Given the description of an element on the screen output the (x, y) to click on. 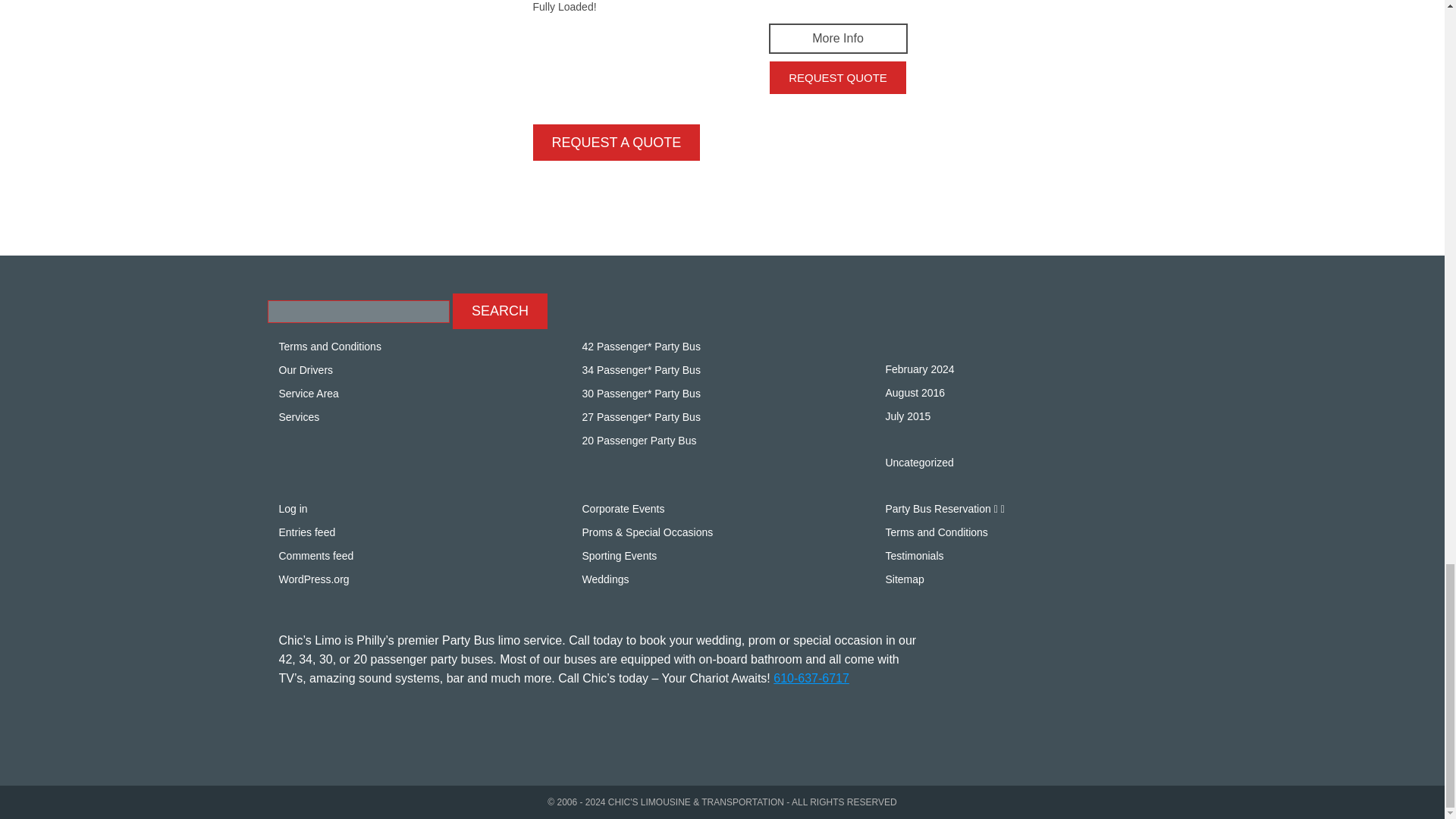
More Info (837, 38)
REQUEST QUOTE (837, 77)
REQUEST A QUOTE (616, 142)
Search (499, 311)
